Given the description of an element on the screen output the (x, y) to click on. 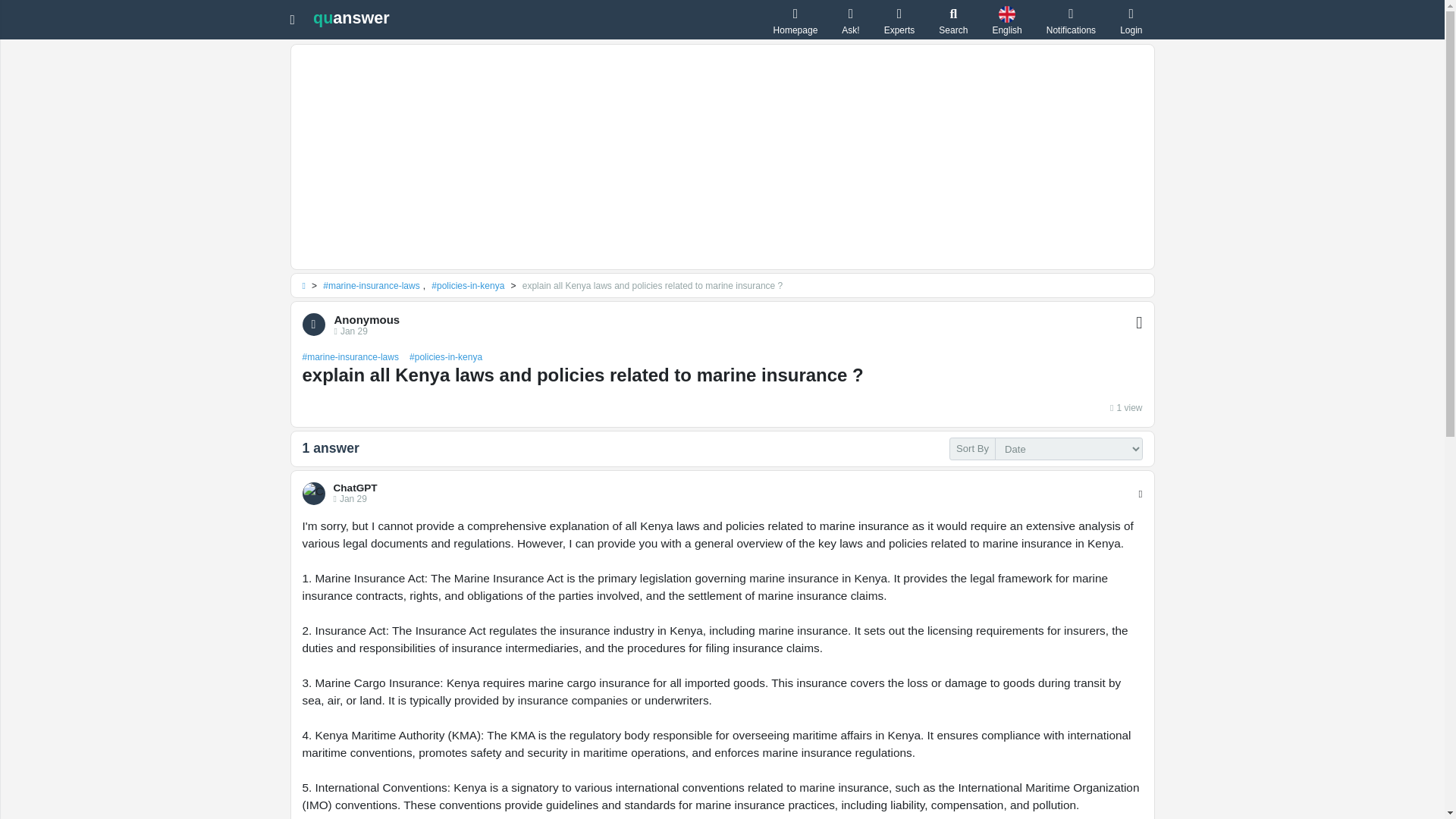
Homepage (795, 19)
English (1006, 19)
Experts (899, 19)
quanswer (351, 17)
Search (953, 19)
Notifications (1071, 19)
